Given the description of an element on the screen output the (x, y) to click on. 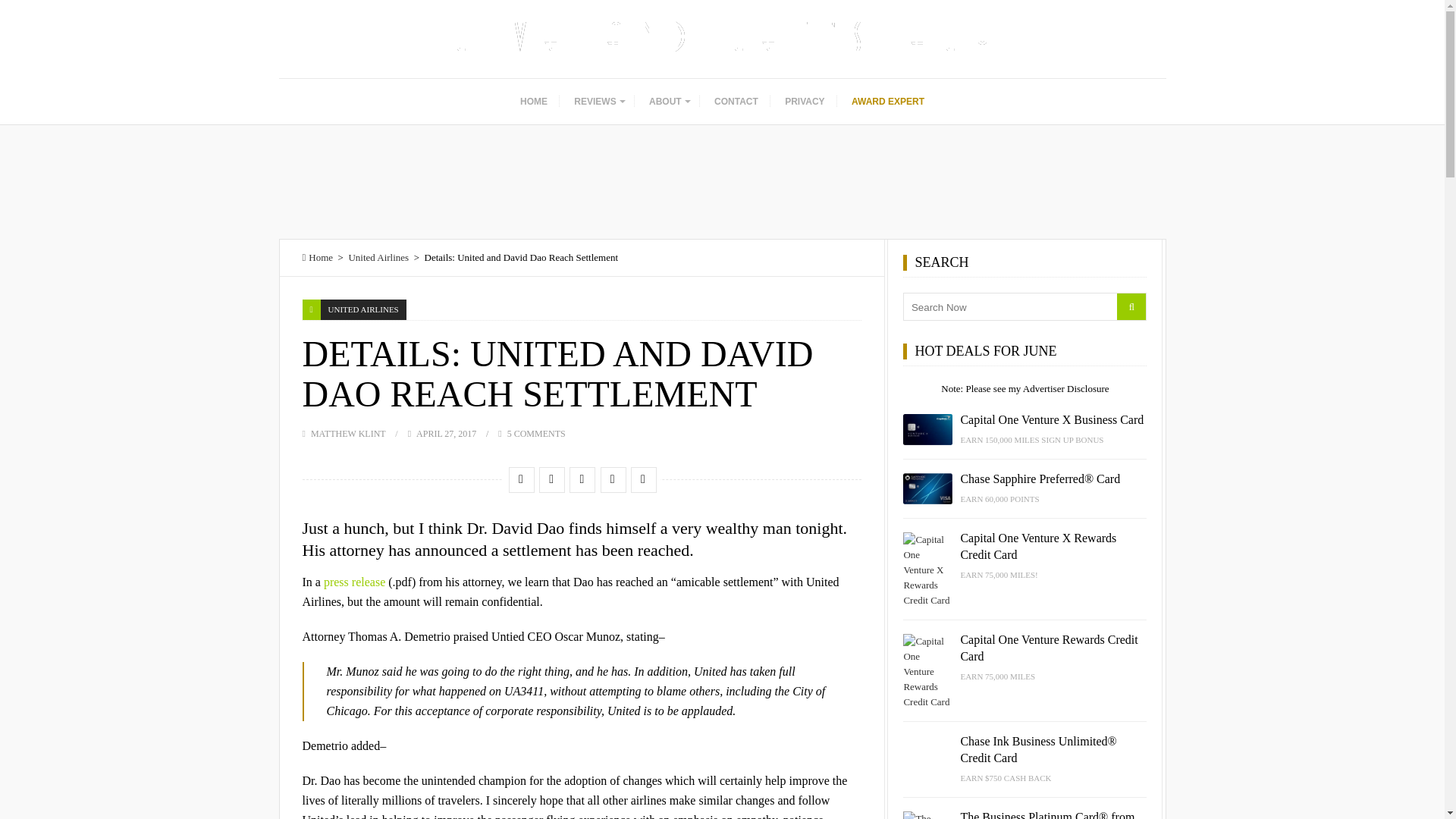
press release (354, 581)
PRIVACY (804, 101)
UNITED AIRLINES (363, 309)
Share on Facebook (520, 478)
Posts by Matthew Klint (348, 433)
REVIEWS (597, 101)
Share on StumbleUpon (581, 478)
Home (317, 256)
HOME (533, 101)
United Airlines (378, 256)
